Given the description of an element on the screen output the (x, y) to click on. 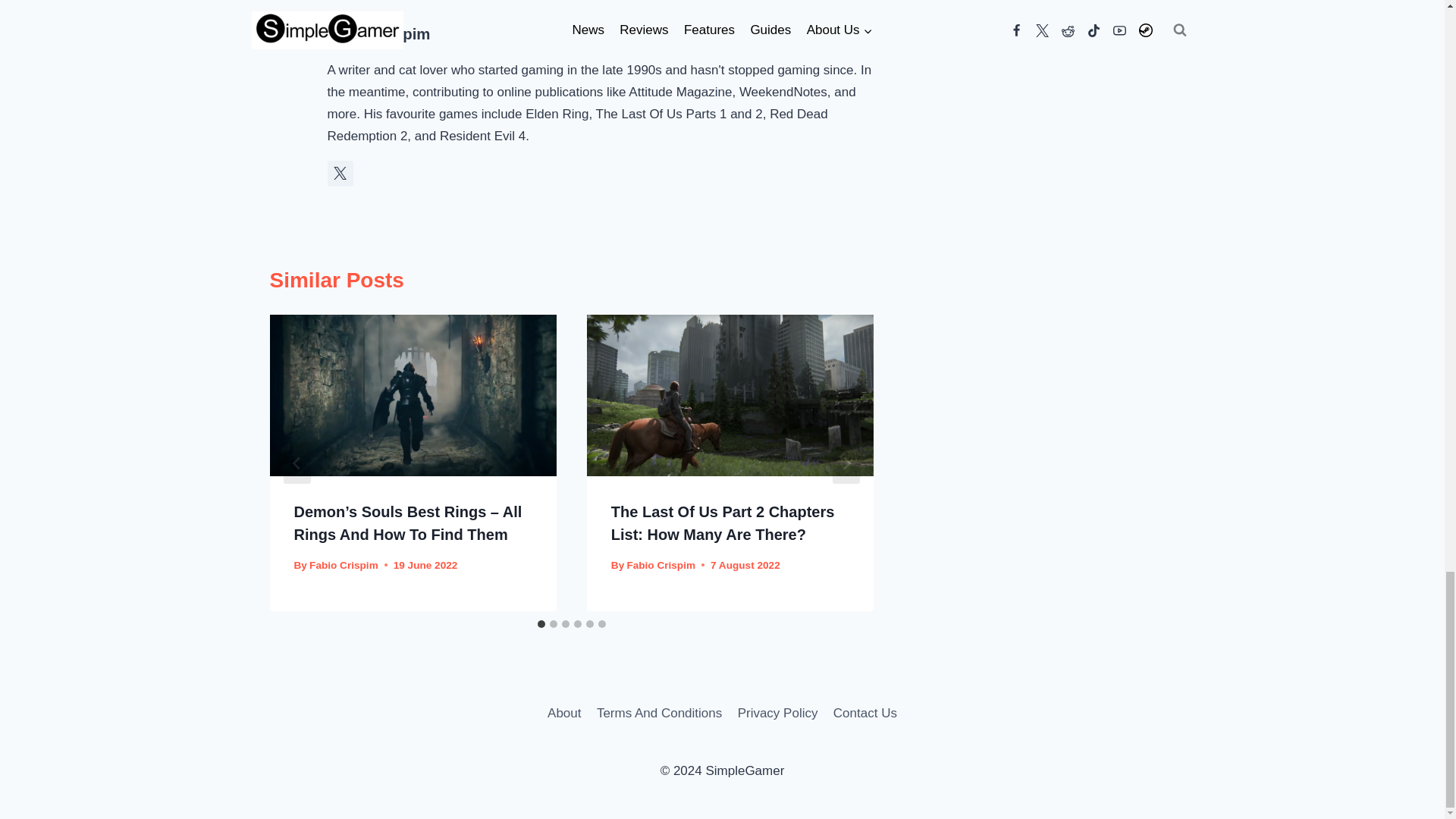
Fabio Crispim (343, 564)
Posts by Fabio Crispim (378, 33)
Follow Fabio Crispim on X formerly Twitter (340, 173)
Fabio Crispim (378, 33)
Fabio Crispim (660, 564)
The Last Of Us Part 2 Chapters List: How Many Are There? (722, 522)
